Given the description of an element on the screen output the (x, y) to click on. 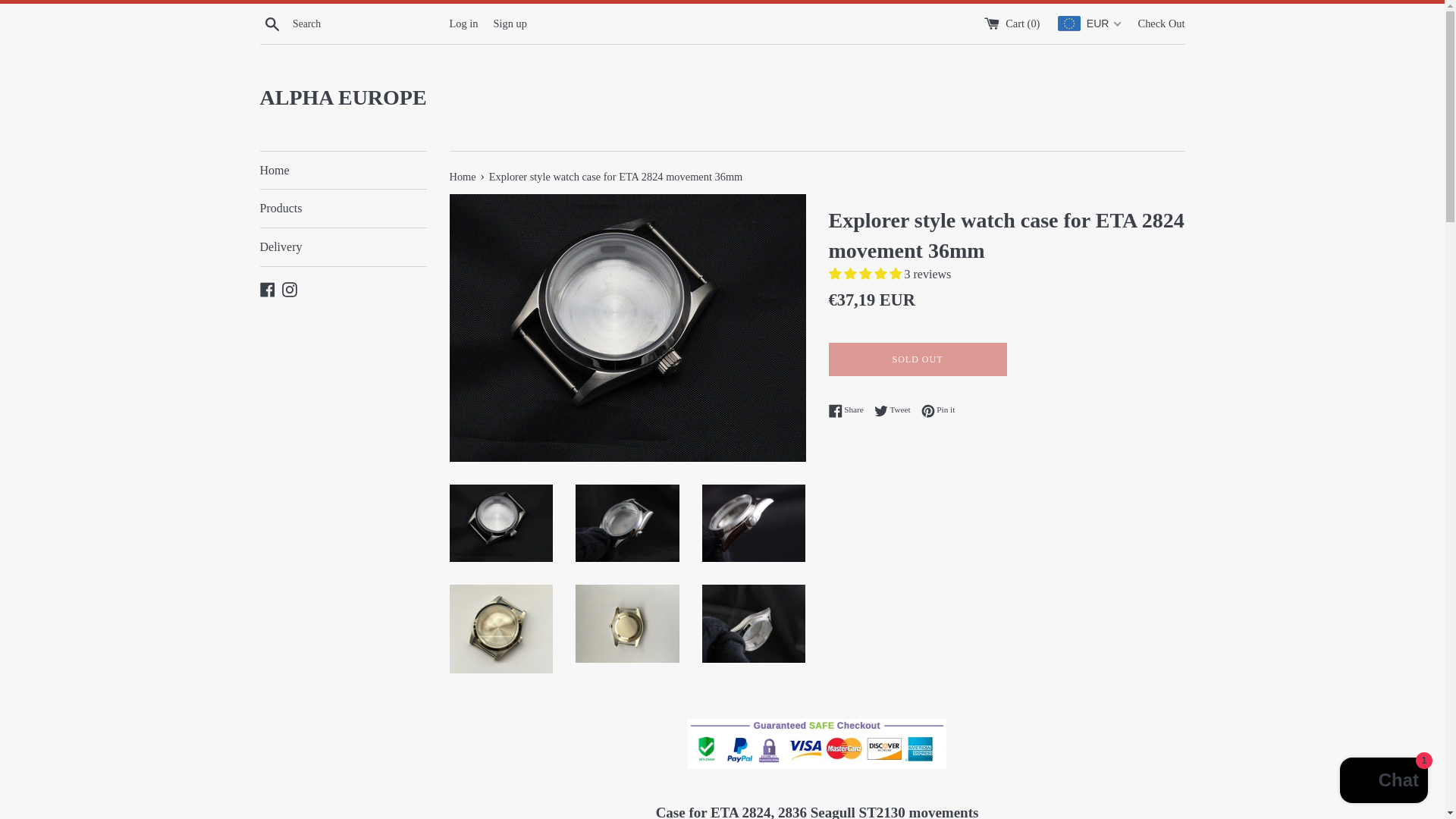
Shopify online store chat (1383, 781)
Share on Facebook (896, 409)
Search (938, 409)
SOLD OUT (849, 409)
Tweet on Twitter (849, 409)
Log in (271, 22)
Sign up (917, 359)
Facebook (896, 409)
ALPHA EUROPE on Instagram (462, 22)
Home (510, 22)
Instagram (267, 287)
Delivery (289, 287)
